Given the description of an element on the screen output the (x, y) to click on. 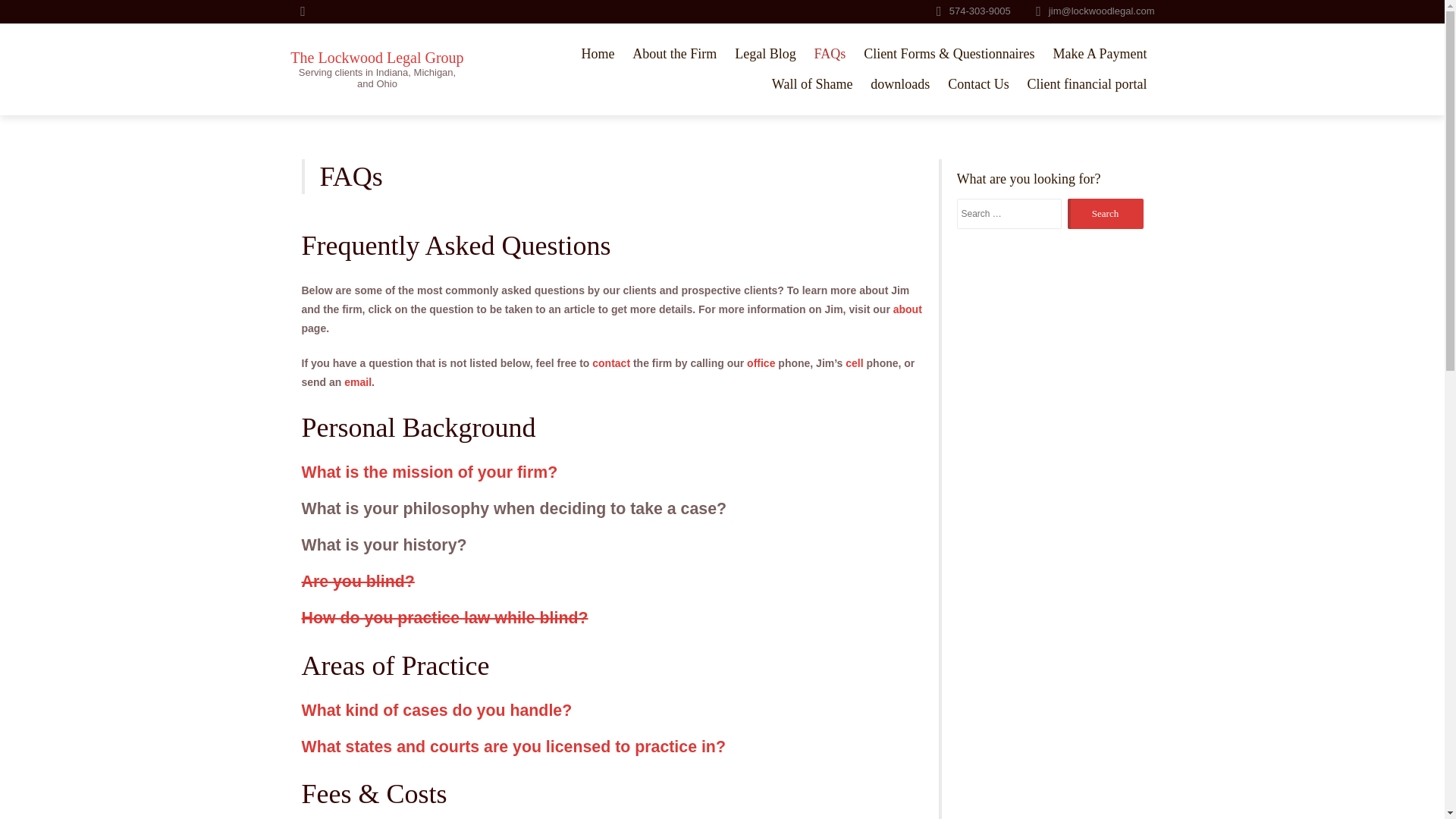
email (357, 381)
Search (1104, 214)
Search (1104, 214)
Legal Blog (764, 53)
Wall of Shame (812, 83)
Contact Us (978, 83)
Make A Payment (1099, 53)
downloads (900, 83)
What states and courts are you licensed to practice in? (513, 746)
FAQs (829, 53)
Are you blind? (357, 581)
Home (597, 53)
How do you practice law while blind? (444, 618)
Client financial portal (1087, 83)
office (760, 363)
